Given the description of an element on the screen output the (x, y) to click on. 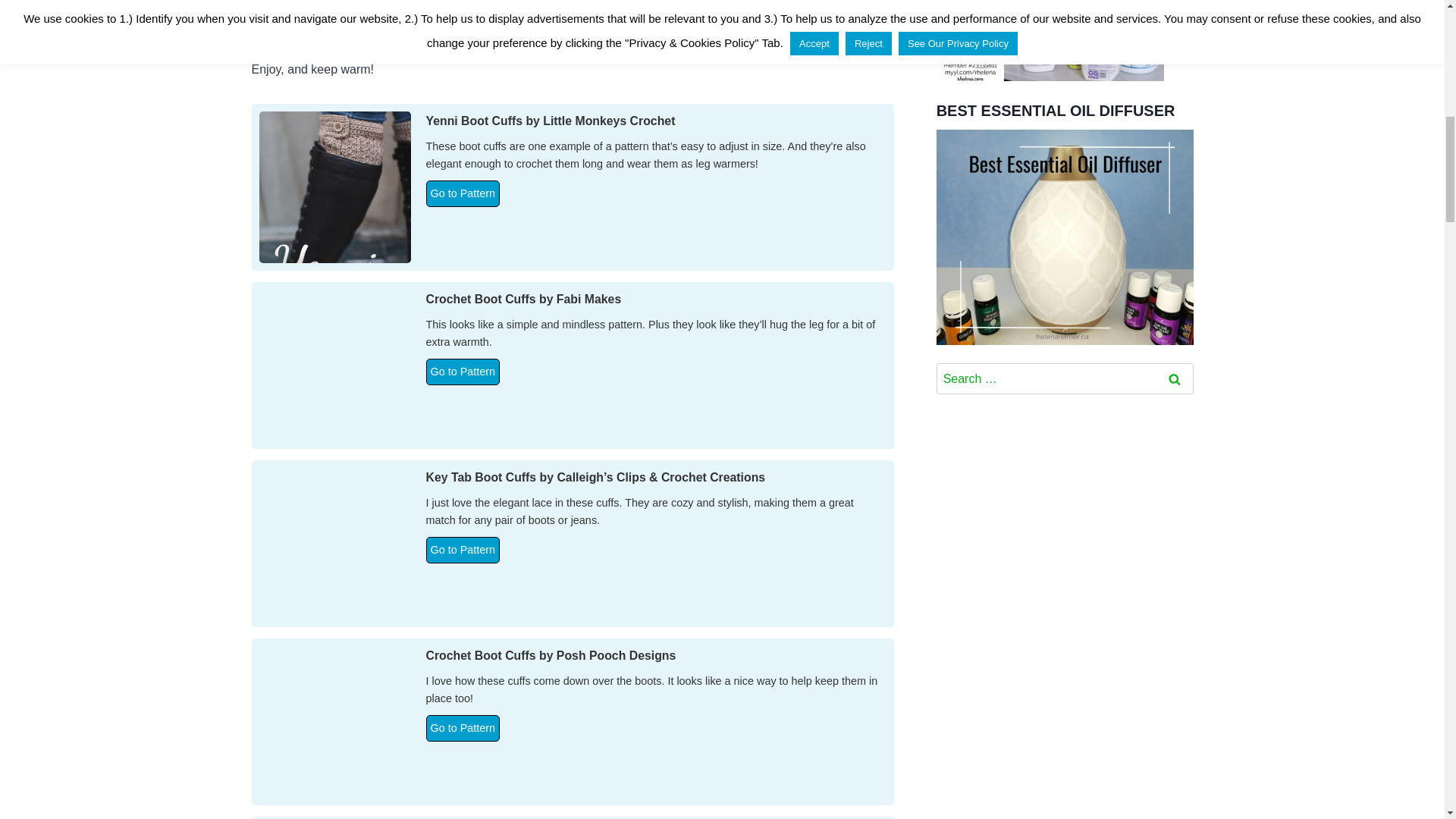
Search (1174, 378)
Go to Pattern (463, 550)
Go to Pattern (463, 193)
Search (1174, 378)
Go to Pattern (463, 728)
Go to Pattern (463, 371)
Best Essential Oil Diffuser (1064, 236)
